Given the description of an element on the screen output the (x, y) to click on. 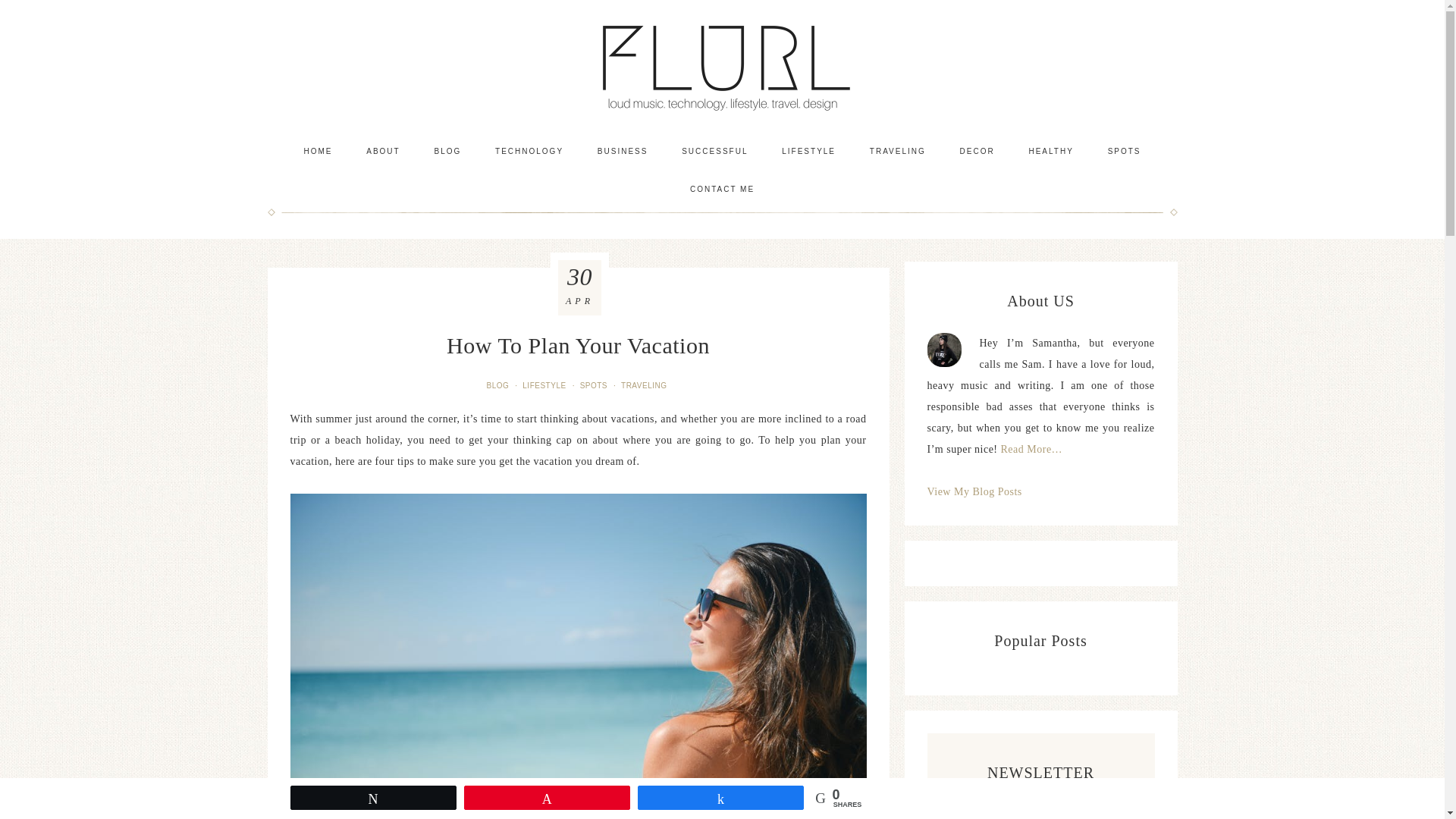
FLURL (722, 65)
TECHNOLOGY (529, 151)
LIFESTYLE (808, 151)
TRAVELING (644, 385)
BLOG (447, 151)
BUSINESS (622, 151)
TRAVELING (897, 151)
SPOTS (1124, 151)
DECOR (977, 151)
CONTACT ME (722, 189)
BLOG (499, 385)
SUCCESSFUL (714, 151)
HEALTHY (1050, 151)
SPOTS (594, 385)
View My Blog Posts (974, 491)
